Given the description of an element on the screen output the (x, y) to click on. 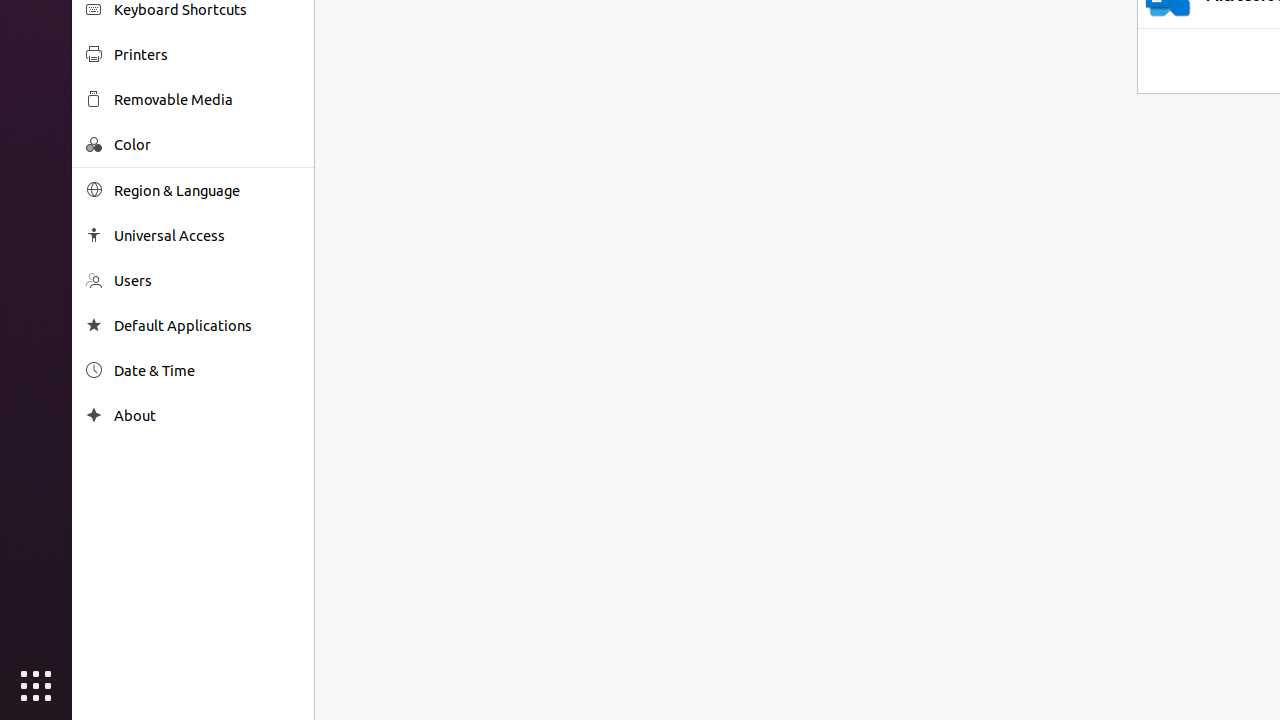
About Element type: label (207, 415)
Date & Time Element type: label (207, 370)
Universal Access Element type: label (207, 235)
Keyboard Shortcuts Element type: label (207, 9)
Users Element type: label (207, 280)
